Given the description of an element on the screen output the (x, y) to click on. 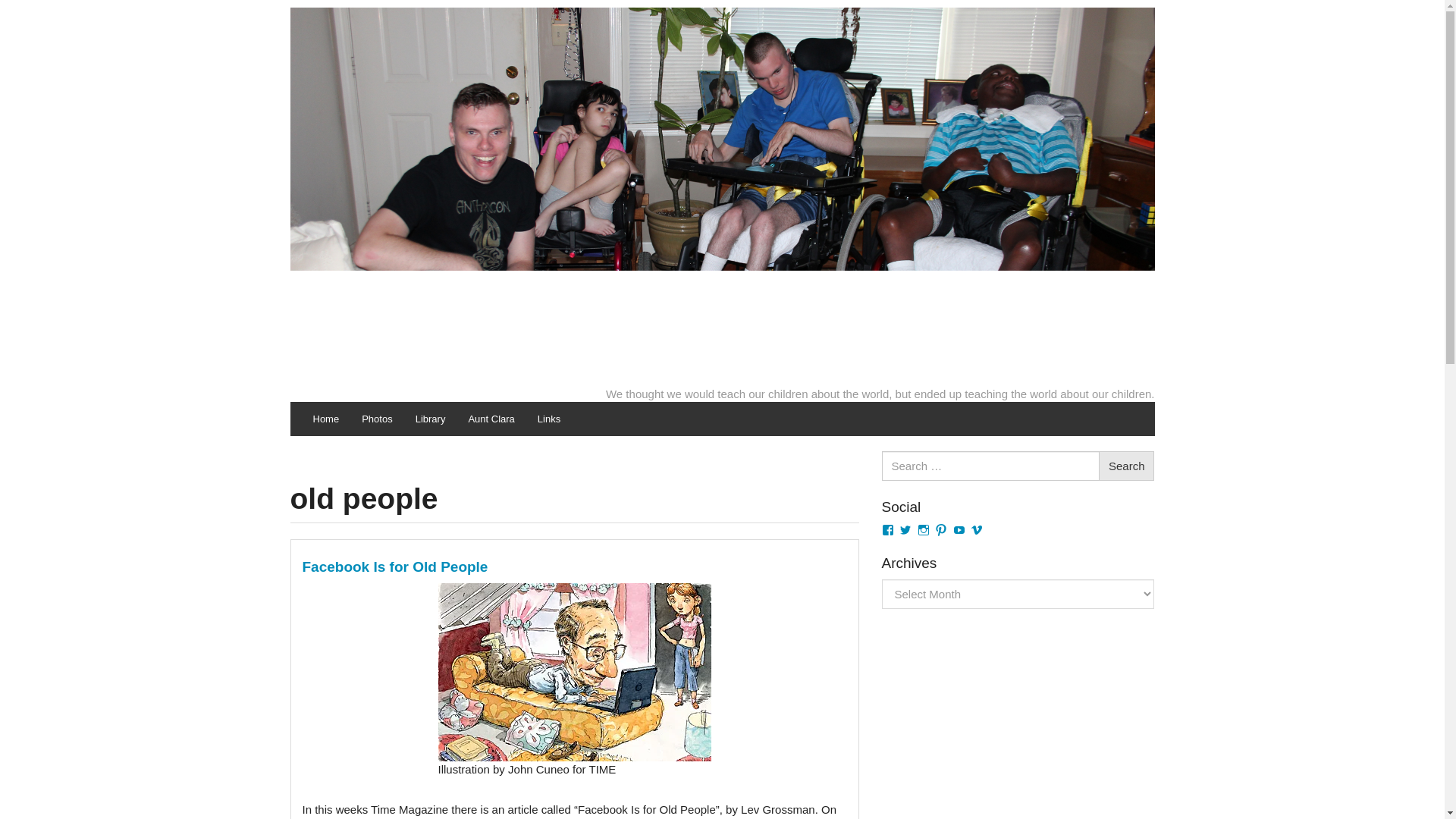
Photos (376, 418)
bissells.com (721, 195)
Search (1126, 465)
Home (325, 418)
Facebook Is for Old People (394, 566)
Library (430, 418)
Links (548, 418)
Aunt Clara (491, 418)
Permalink to Facebook Is for Old People (394, 566)
